Given the description of an element on the screen output the (x, y) to click on. 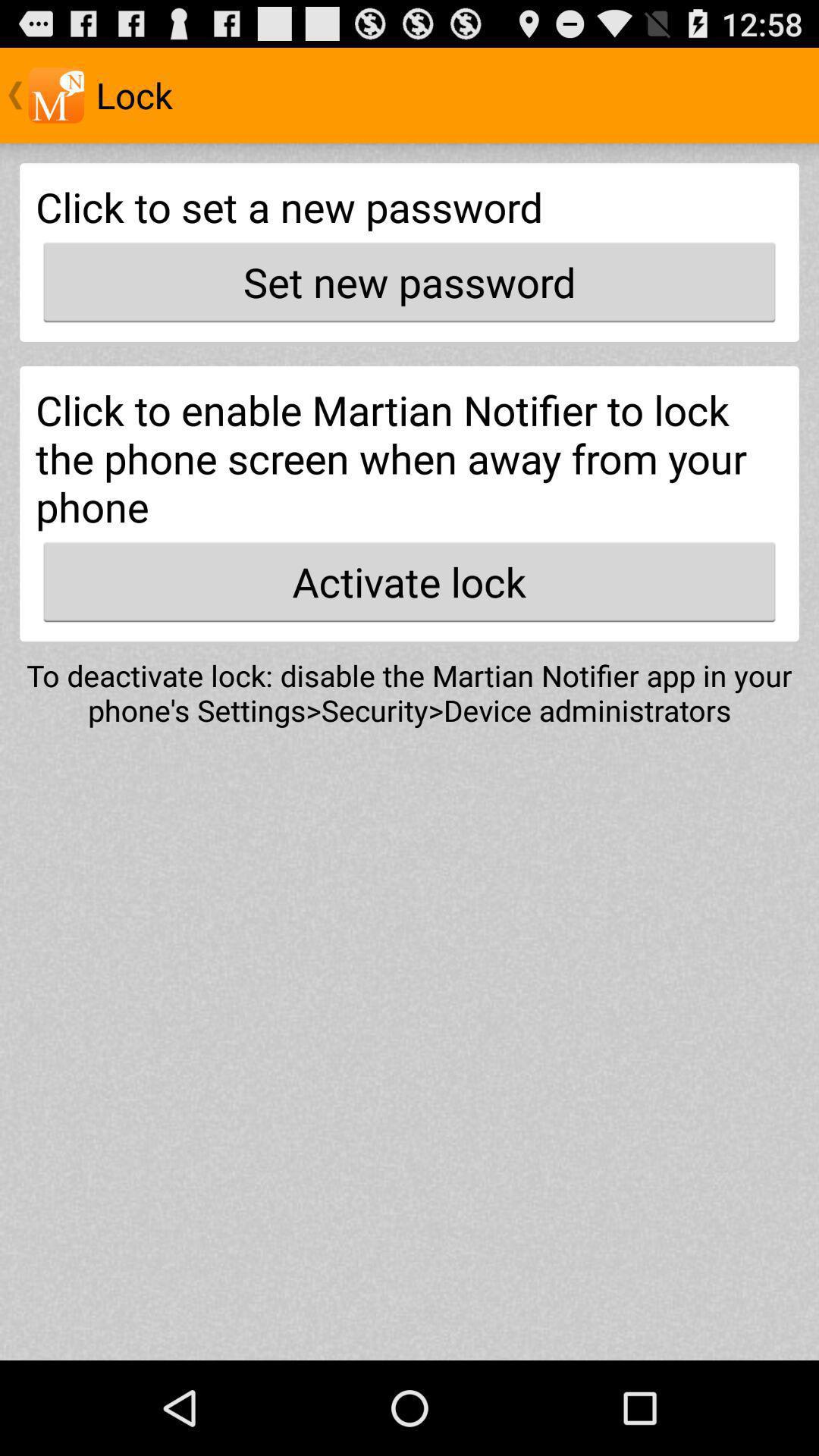
swipe until activate lock icon (409, 581)
